Given the description of an element on the screen output the (x, y) to click on. 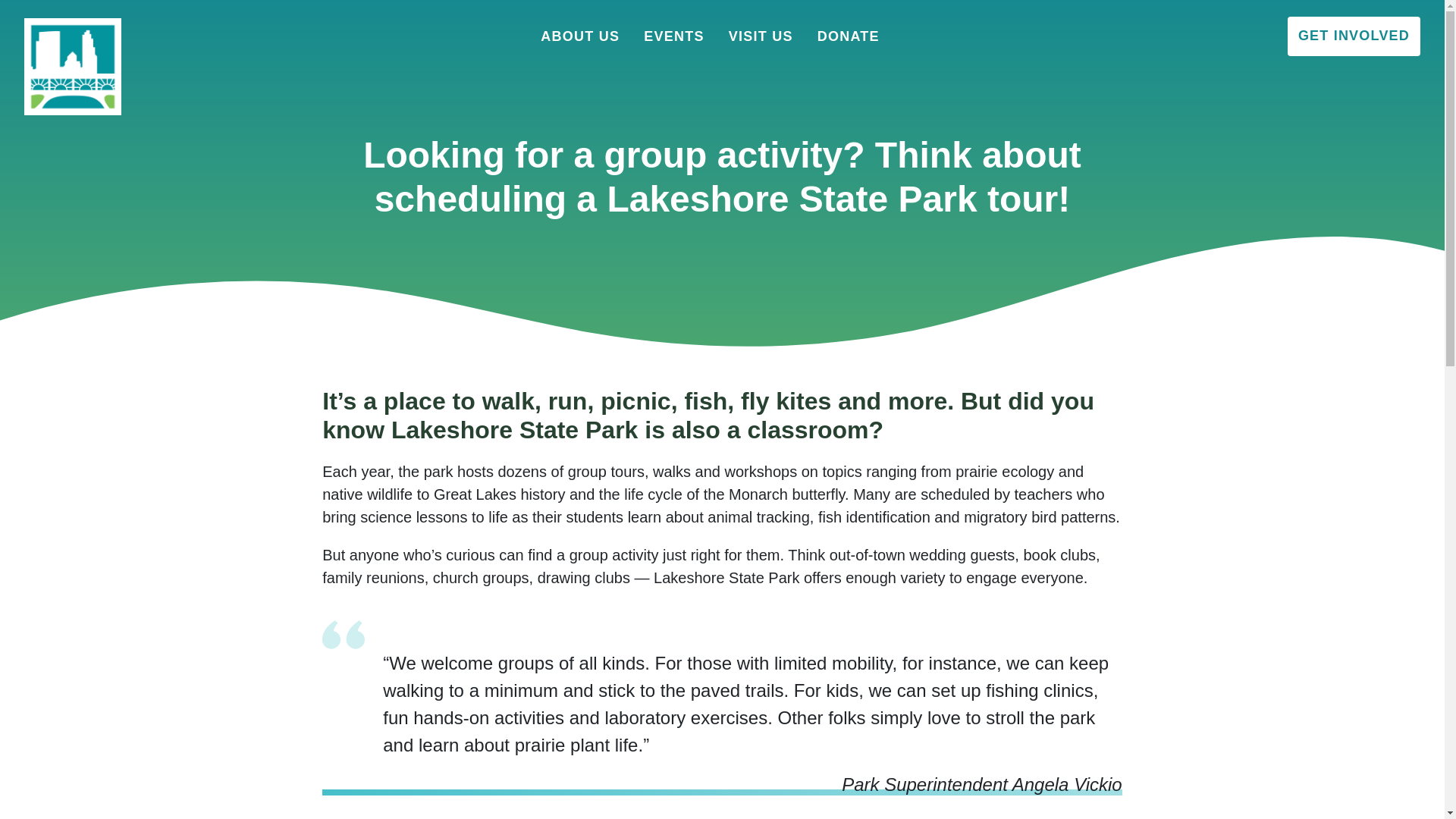
FAQ (930, 178)
GET INVOLVED (1354, 36)
SPONSORS (1018, 133)
Friends of Lakeshore State Park (128, 21)
ABOUT US (580, 36)
BLOG (750, 133)
ACTIVITIES (930, 178)
